Given the description of an element on the screen output the (x, y) to click on. 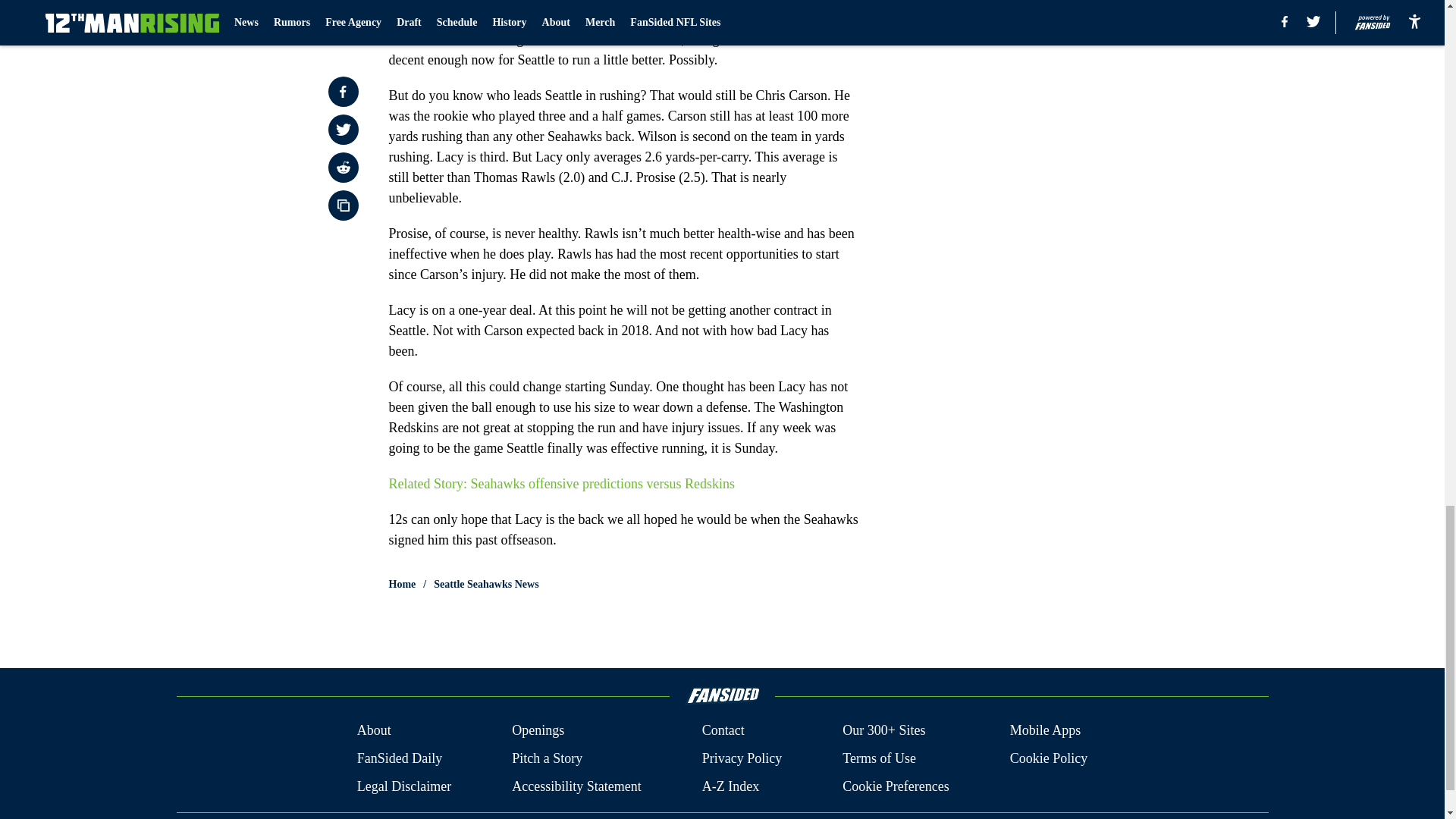
Cookie Policy (1048, 758)
About (373, 730)
Legal Disclaimer (403, 786)
Mobile Apps (1045, 730)
Openings (538, 730)
Contact (722, 730)
Accessibility Statement (576, 786)
A-Z Index (729, 786)
Cookie Preferences (896, 786)
Terms of Use (879, 758)
